Given the description of an element on the screen output the (x, y) to click on. 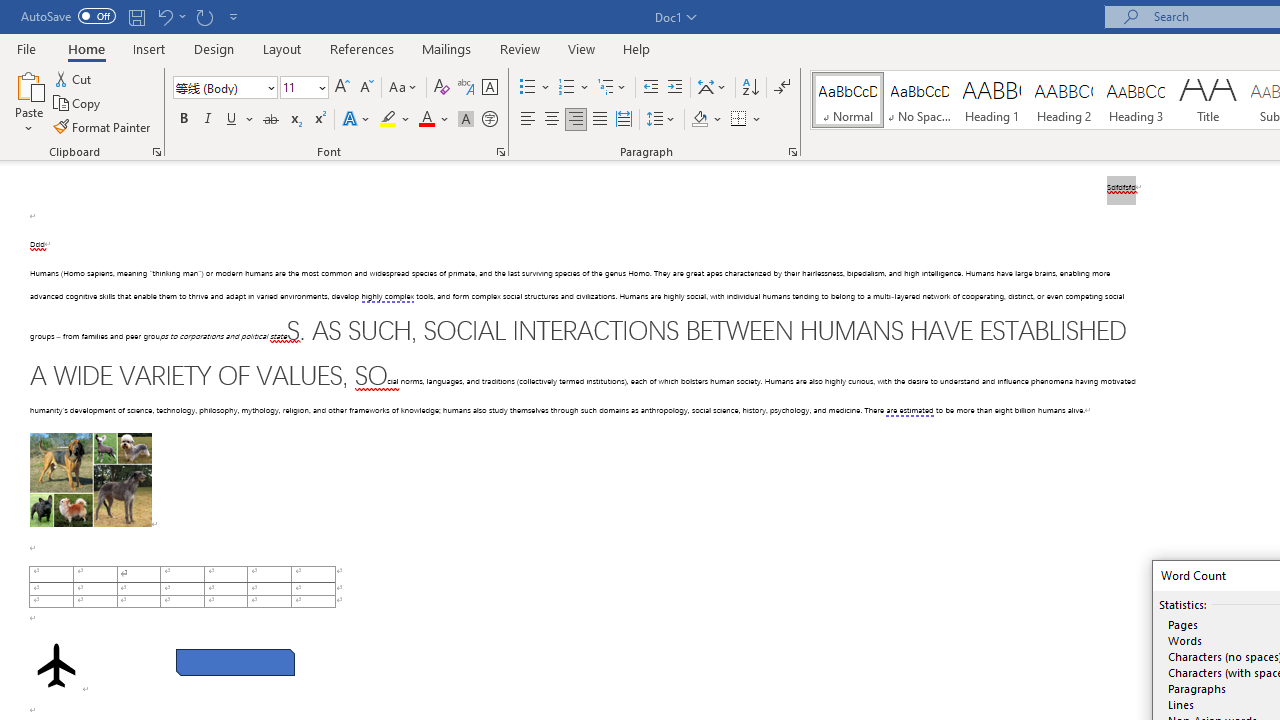
Heading 3 (1135, 100)
Repeat Paragraph Alignment (204, 15)
Title (1208, 100)
